Given the description of an element on the screen output the (x, y) to click on. 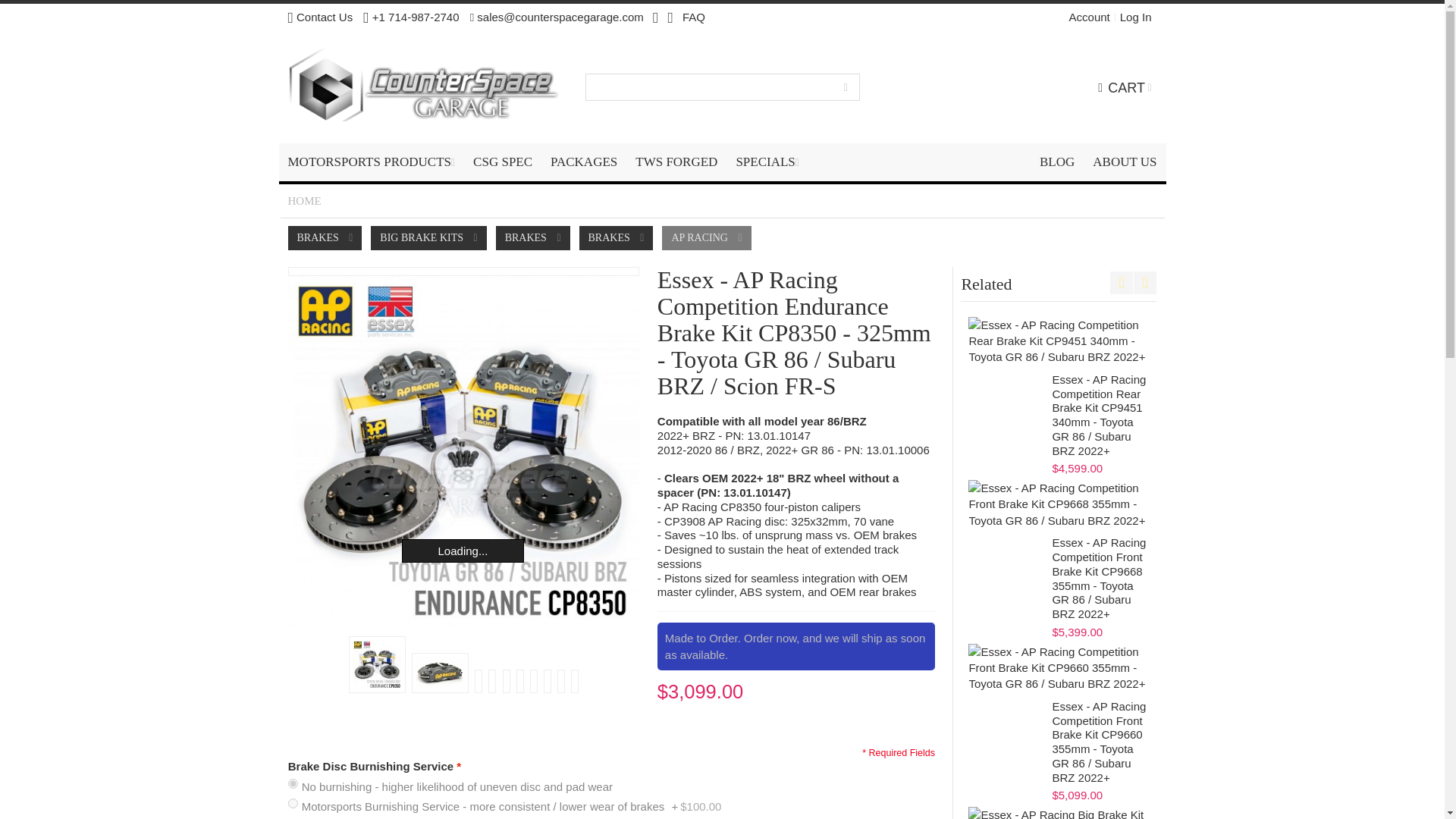
Log In (1136, 17)
About Us (1124, 161)
Search (845, 86)
Account (1089, 17)
MOTORSPORTS PRODUCTS (371, 161)
Contact Us (320, 16)
Go to Home Page (304, 200)
2930 (293, 783)
FAQ (693, 16)
Account (1089, 17)
